Given the description of an element on the screen output the (x, y) to click on. 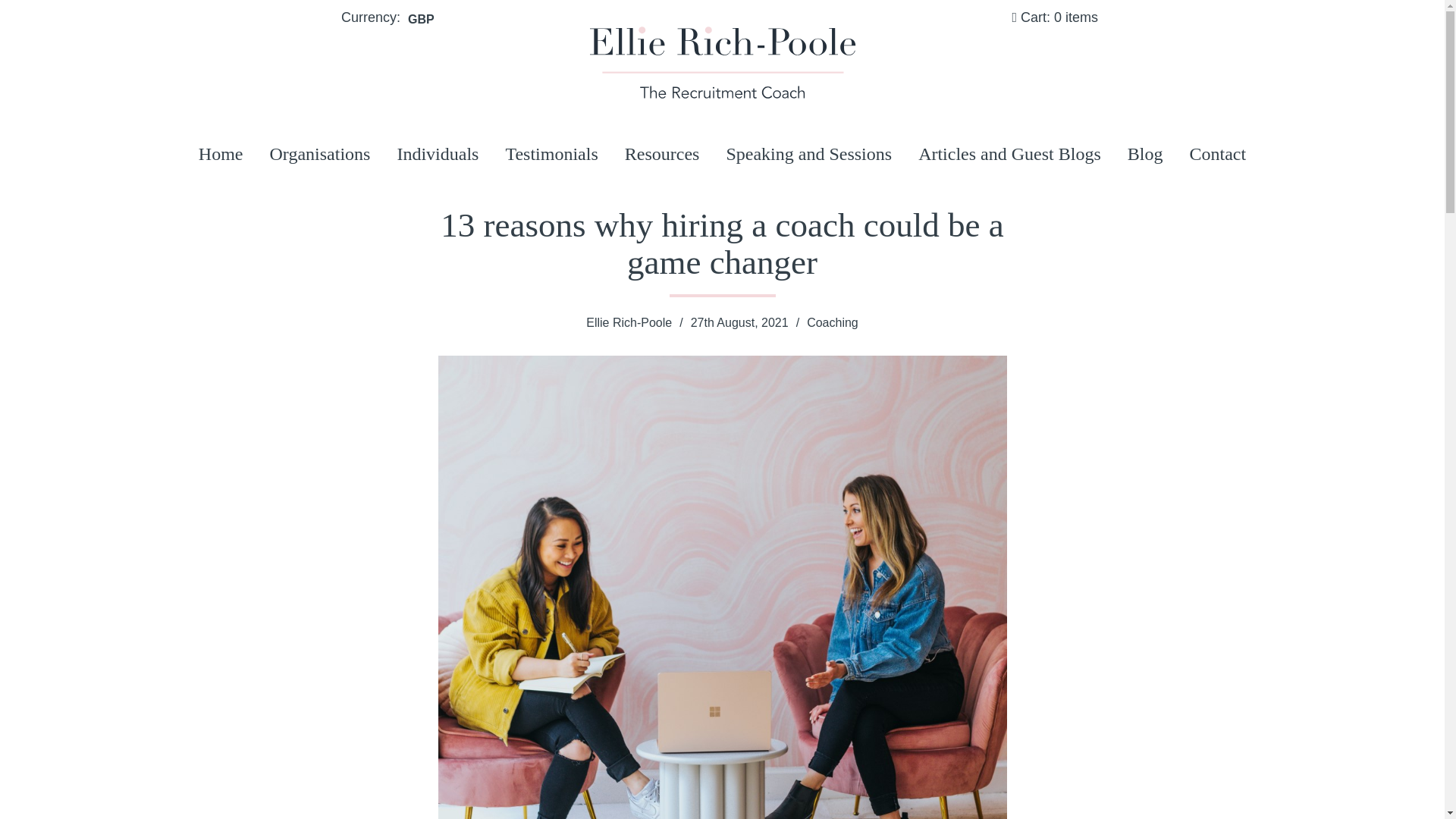
Contact (1217, 153)
Cart: 0 items (1054, 17)
Resources (662, 153)
GBP (420, 19)
Articles and Guest Blogs (1009, 153)
Coaching (832, 322)
Individuals (437, 153)
Speaking and Sessions (808, 153)
Organisations (320, 153)
Testimonials (550, 153)
